Given the description of an element on the screen output the (x, y) to click on. 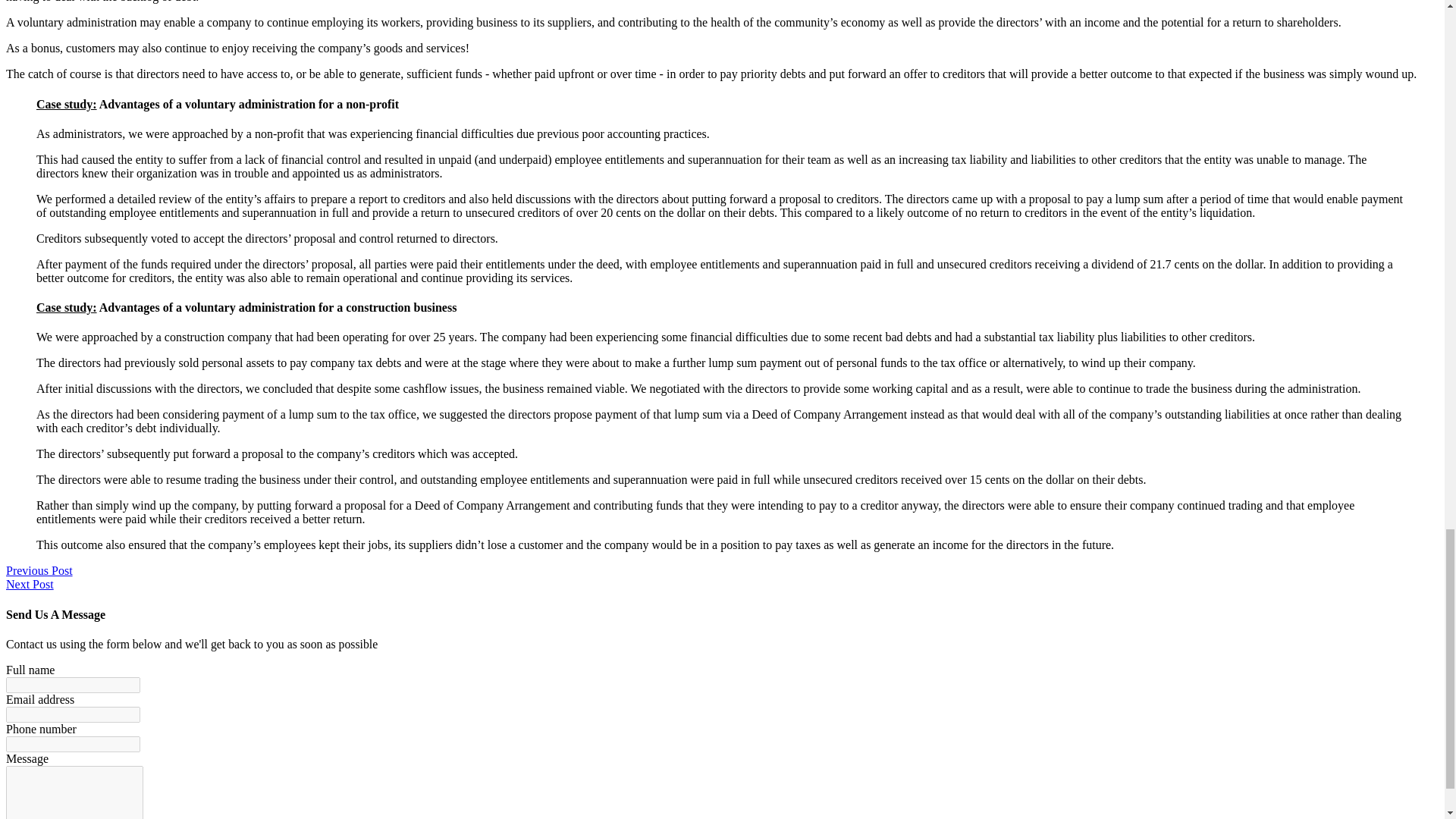
Next Post (29, 584)
Previous Post (38, 570)
